Given the description of an element on the screen output the (x, y) to click on. 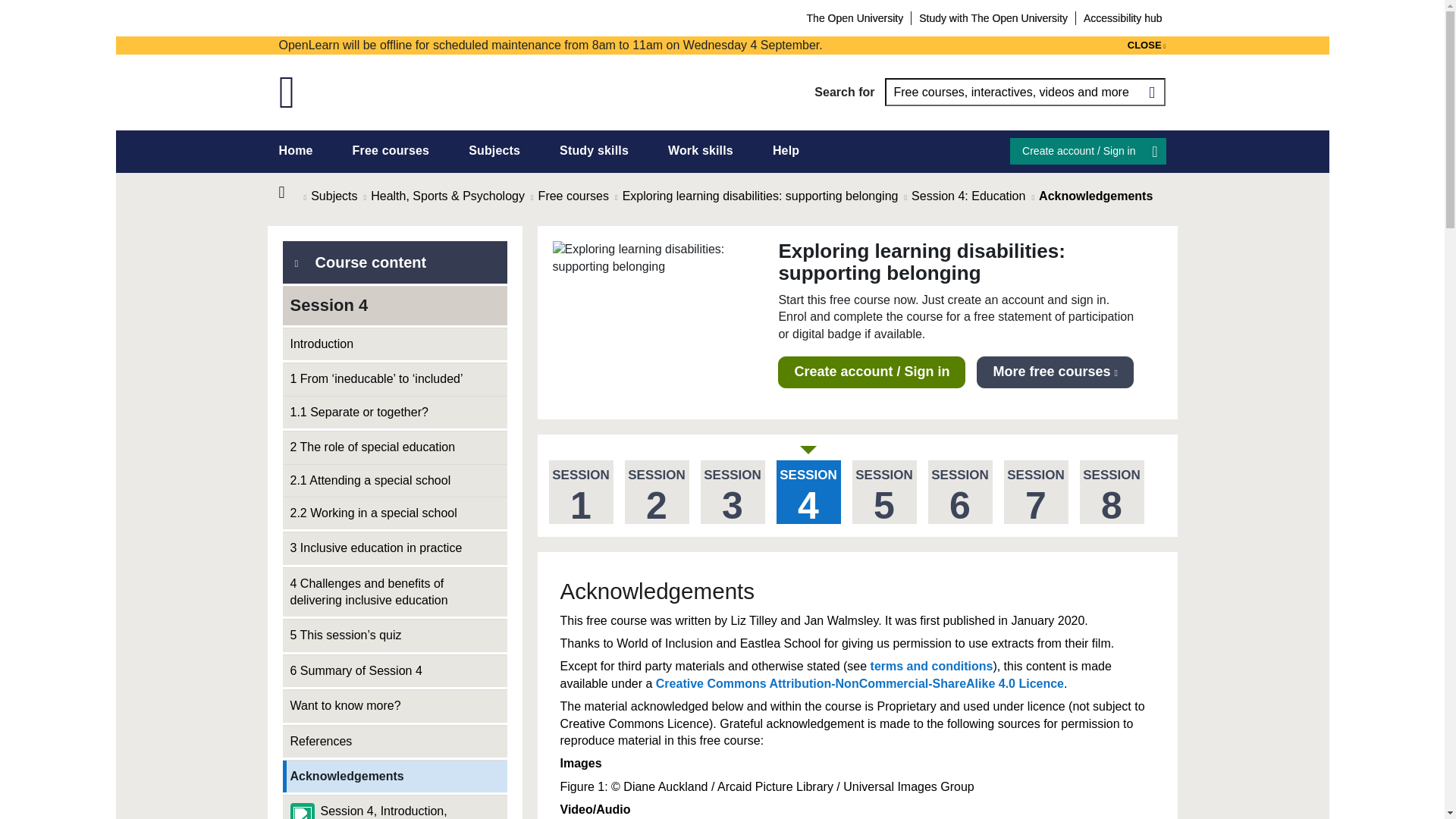
Accessibility hub (1123, 17)
The Open University (855, 17)
Home (291, 193)
Search (1151, 91)
Work skills (700, 150)
Free courses (390, 150)
Study with The Open University (993, 17)
Home (296, 150)
Subjects (493, 150)
Study skills (593, 150)
